Given the description of an element on the screen output the (x, y) to click on. 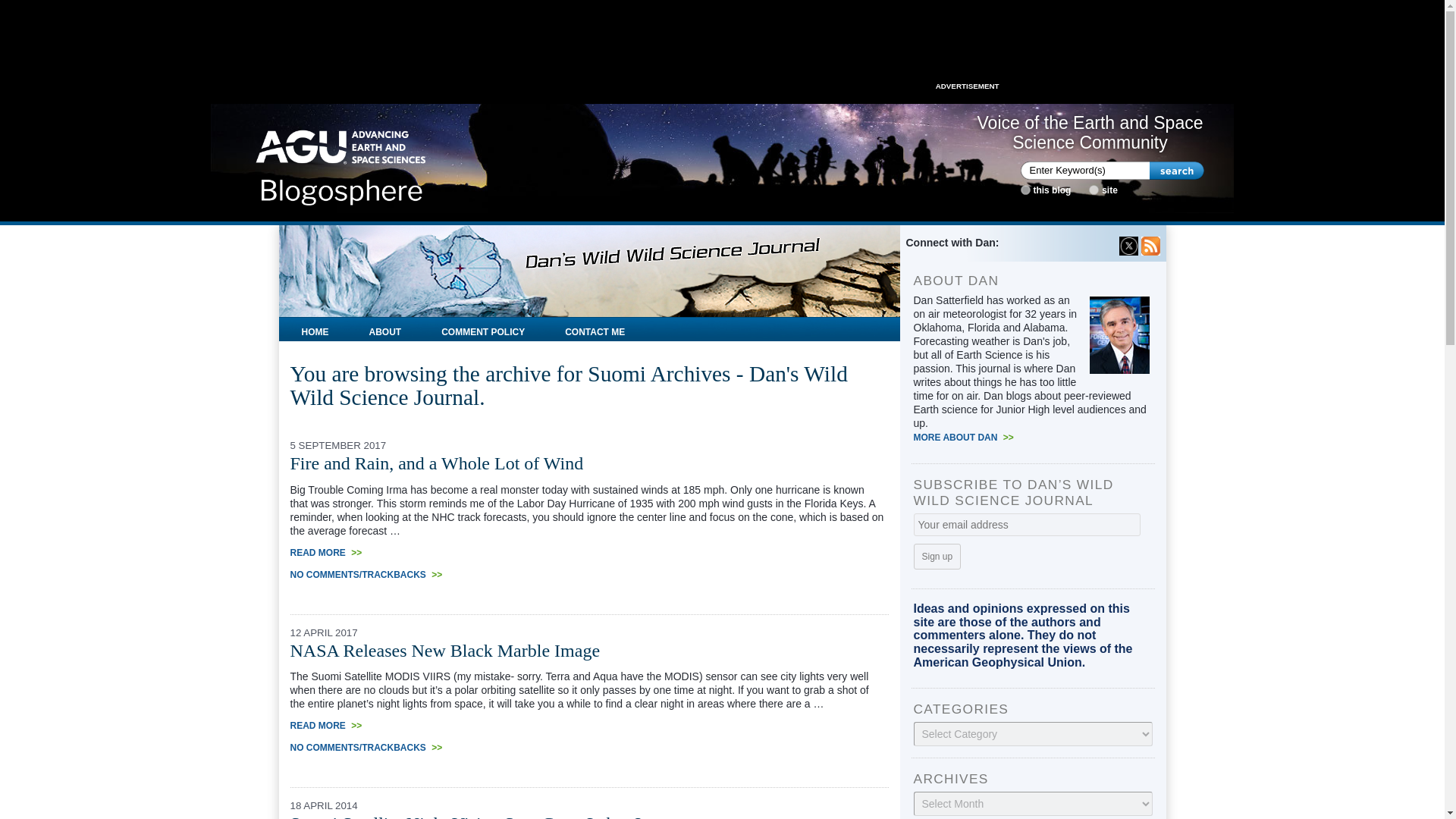
HOME (314, 328)
Sign up (936, 556)
Permanent Link to NASA Releases New Black Marble Image (444, 650)
NASA Releases New Black Marble Image (444, 650)
ABOUT (385, 328)
Home (341, 162)
Suomi Satellite Night Vision Sees Great Lakes Ice (472, 816)
blog (1025, 189)
Sign up (936, 556)
